Given the description of an element on the screen output the (x, y) to click on. 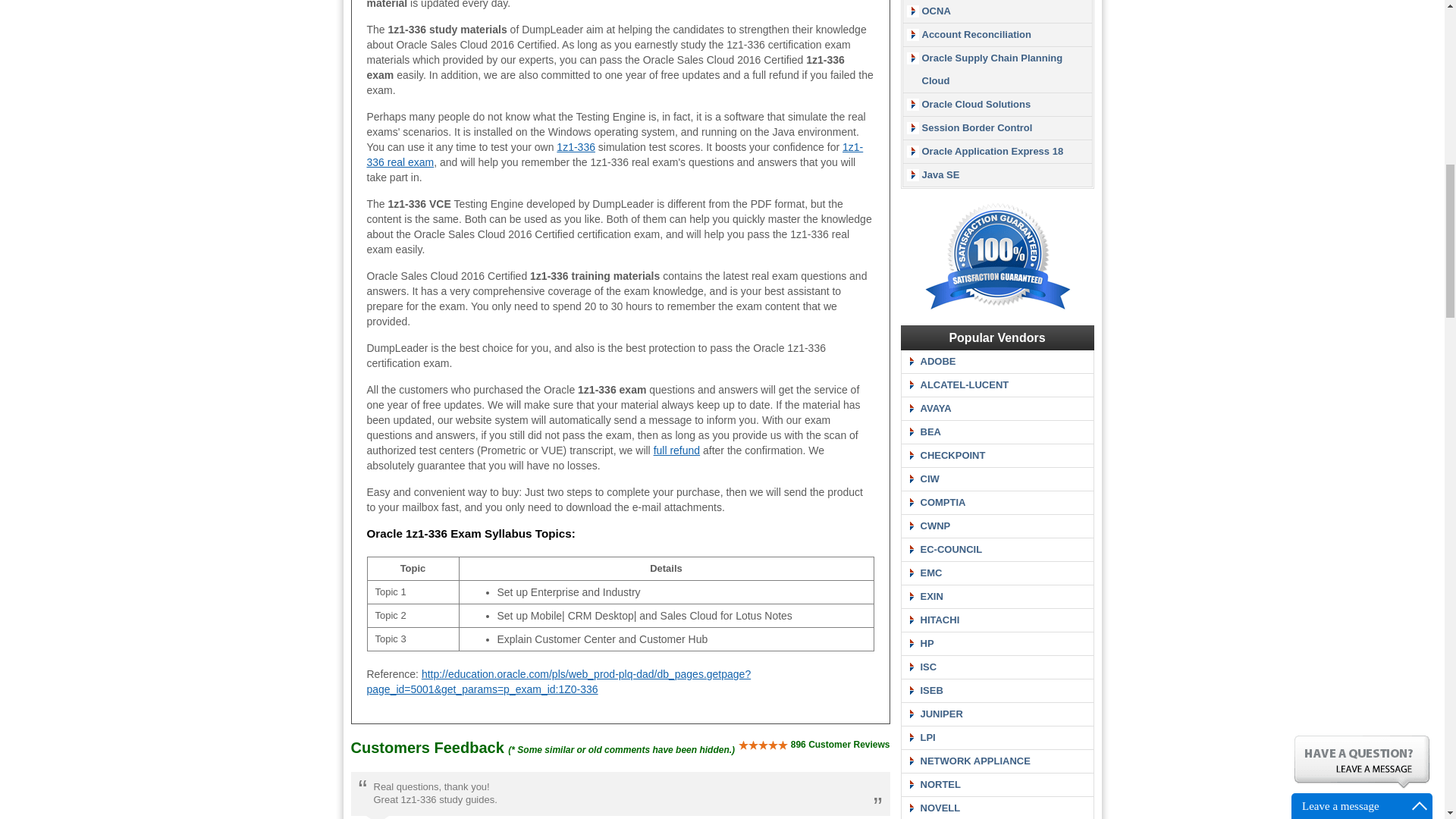
full refund (676, 450)
1z1-336 (575, 146)
1z1-336 real exam (614, 154)
